Given the description of an element on the screen output the (x, y) to click on. 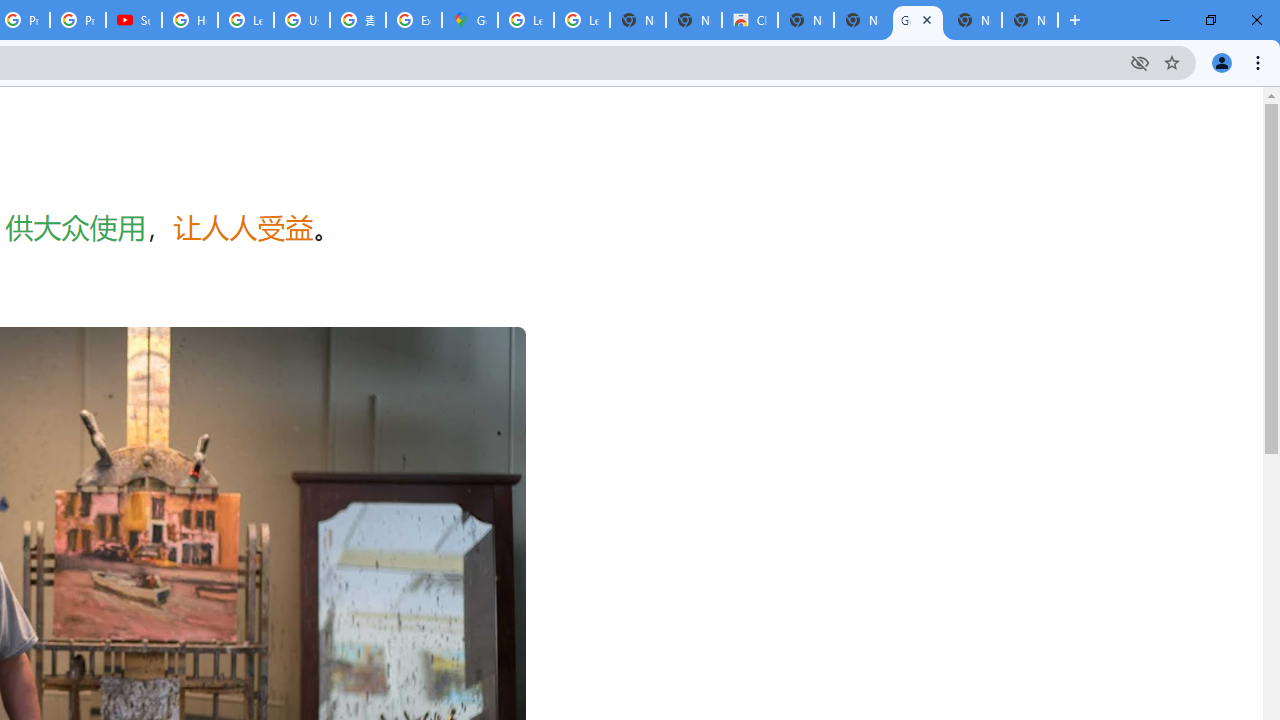
Explore new street-level details - Google Maps Help (413, 20)
Subscriptions - YouTube (134, 20)
